Given the description of an element on the screen output the (x, y) to click on. 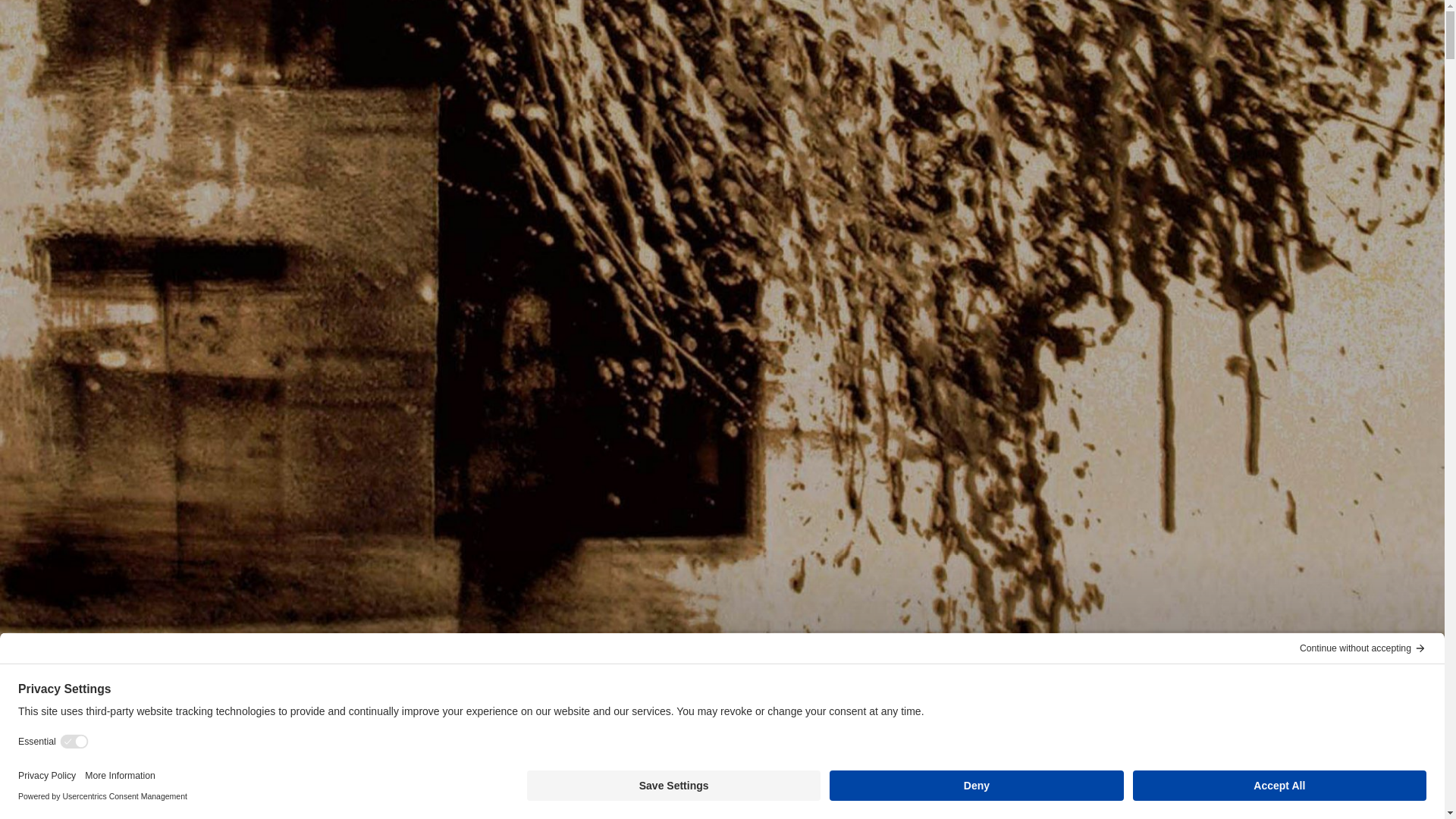
2K2PRODUCTIONS Element type: text (531, 657)
